Given the description of an element on the screen output the (x, y) to click on. 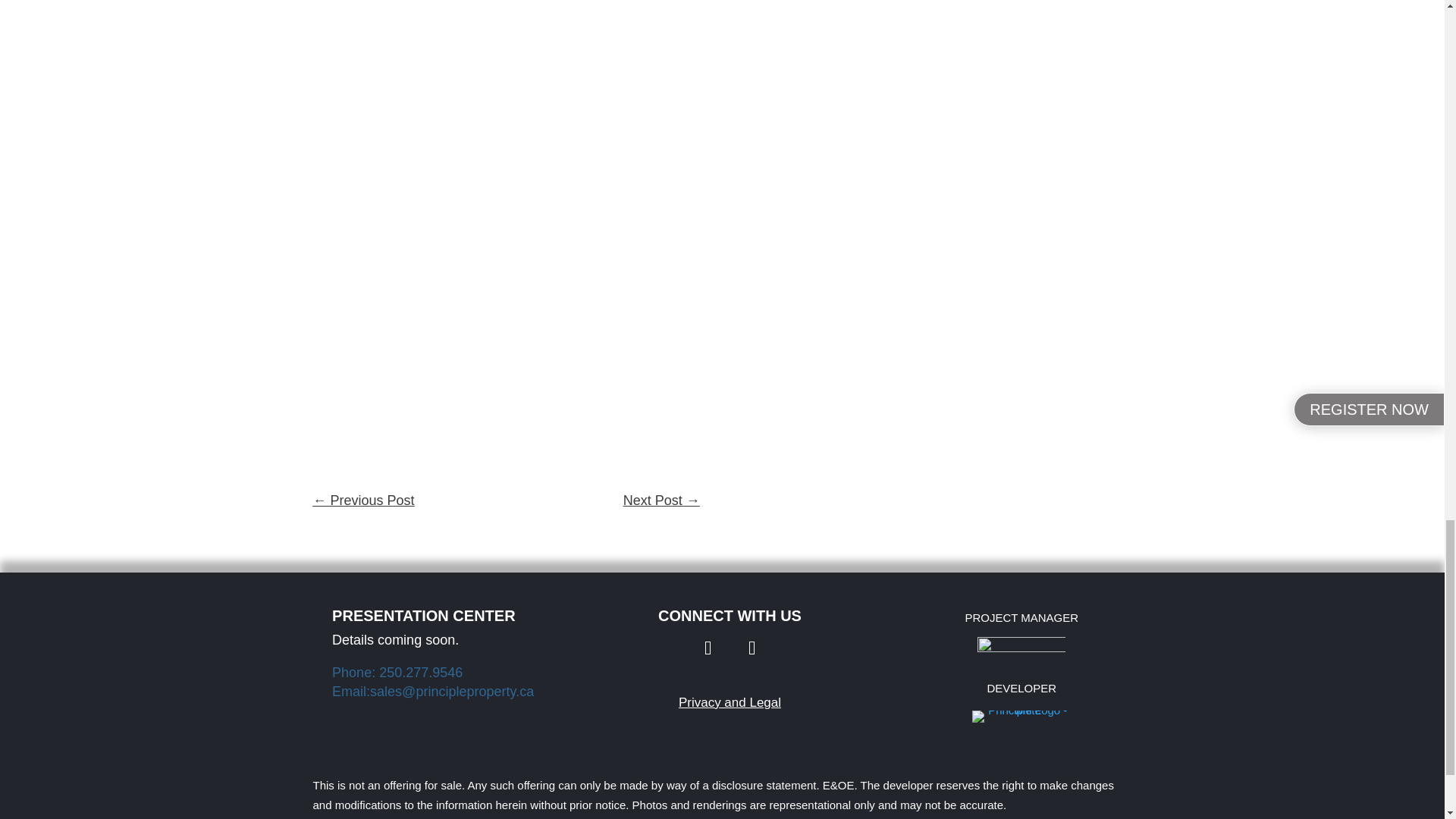
Follow on Instagram (751, 648)
Follow on Facebook (707, 648)
PRINCwhite-white-blackP (1021, 716)
Privacy and Legal (729, 702)
parkshore-logo-white (1020, 647)
